Given the description of an element on the screen output the (x, y) to click on. 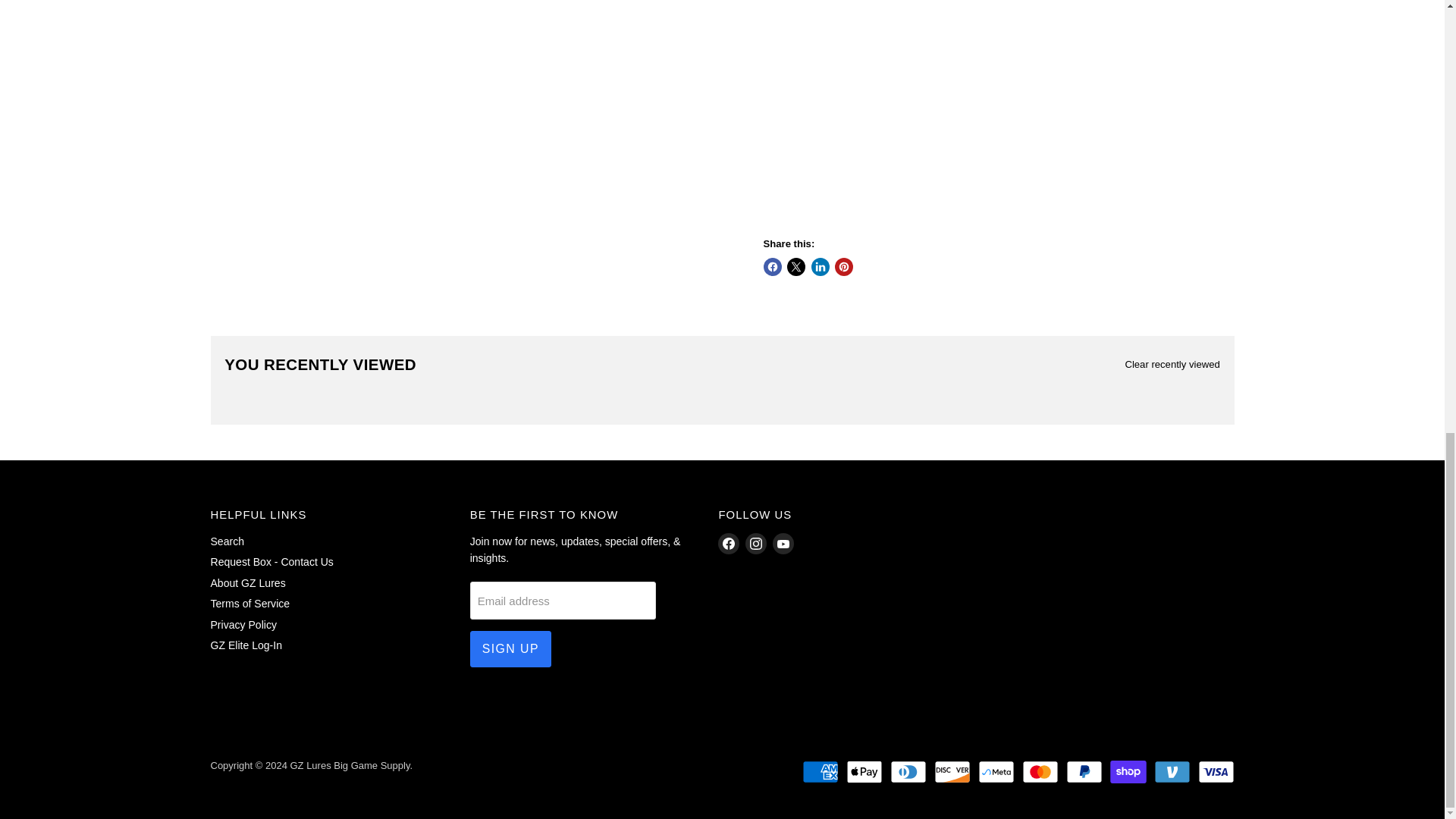
Facebook (728, 543)
Instagram (756, 543)
American Express (820, 771)
YouTube (783, 543)
YouTube video player (975, 109)
